Given the description of an element on the screen output the (x, y) to click on. 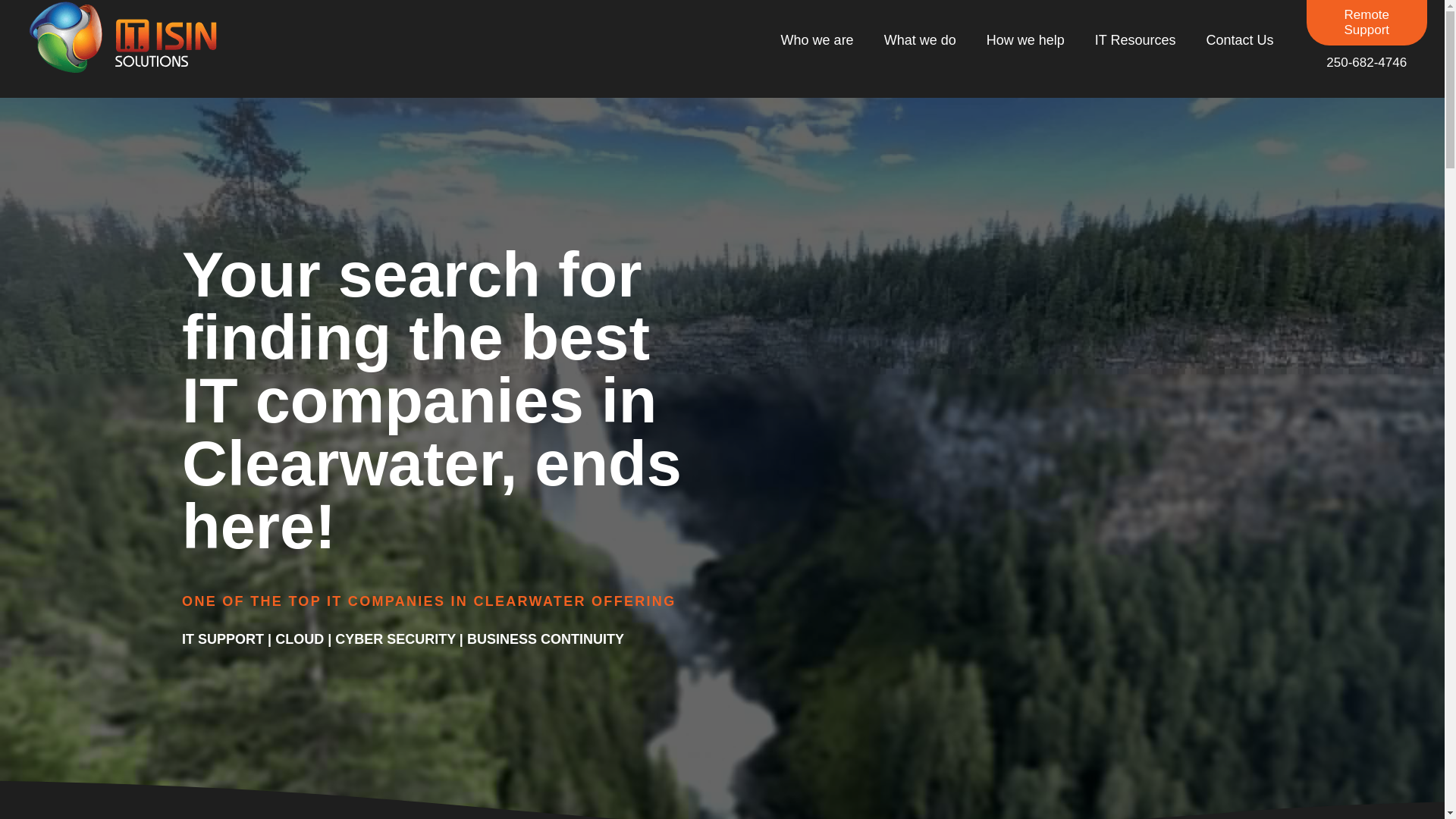
Contact Us (1239, 39)
IT Resources (1135, 39)
How we help (1025, 39)
What we do (920, 39)
Who we are (817, 39)
